Given the description of an element on the screen output the (x, y) to click on. 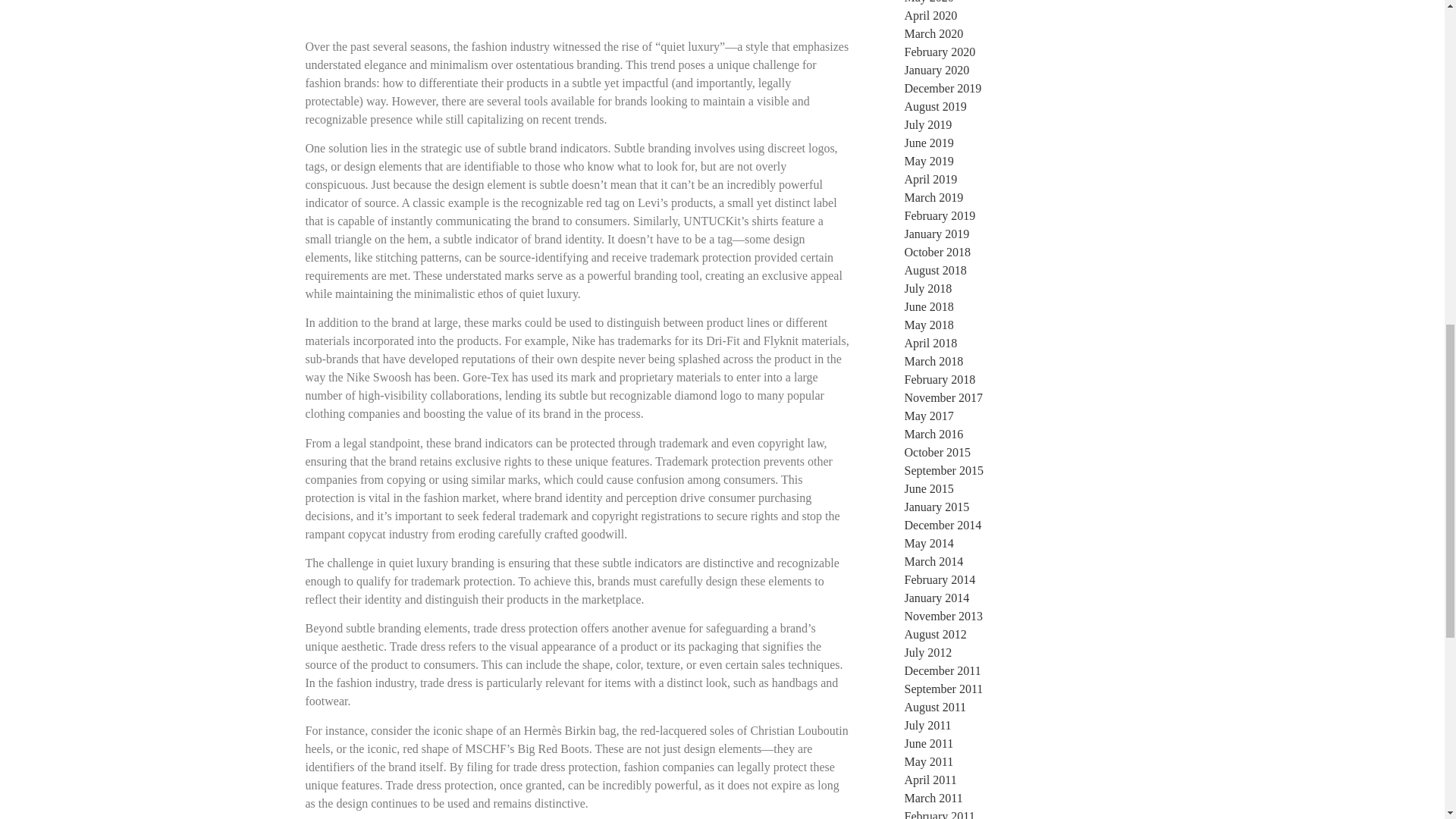
January 2020 (936, 69)
February 2020 (939, 51)
March 2020 (933, 33)
April 2020 (930, 15)
May 2020 (928, 2)
